Given the description of an element on the screen output the (x, y) to click on. 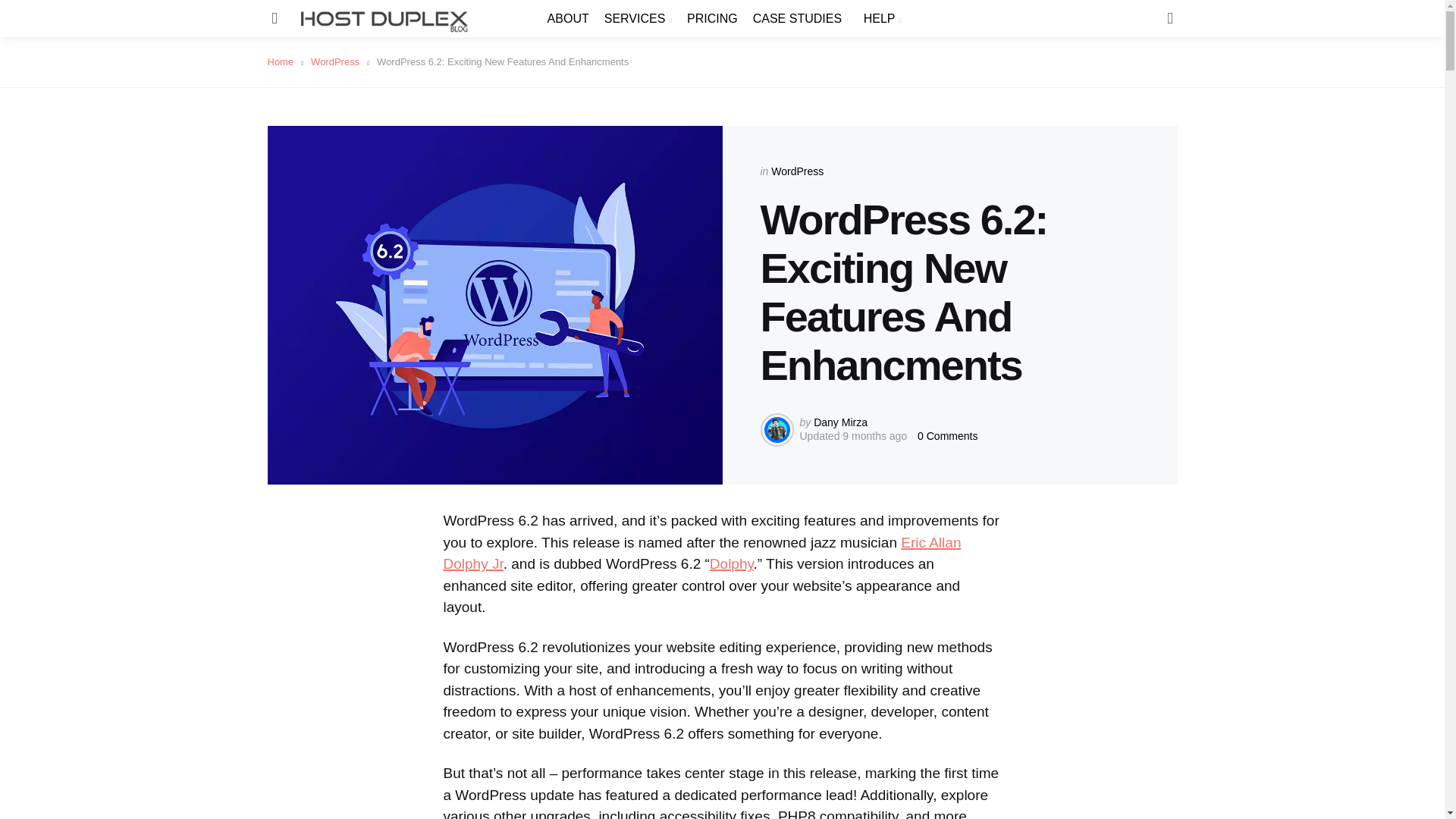
Home (284, 61)
0 Comments (946, 435)
ABOUT (568, 18)
WordPress (797, 171)
CASE STUDIES (800, 18)
Dany Mirza (840, 422)
HELP (882, 18)
Eric Allan Dolphy Jr (701, 553)
WordPress (340, 61)
SERVICES (637, 18)
PRICING (712, 18)
